Given the description of an element on the screen output the (x, y) to click on. 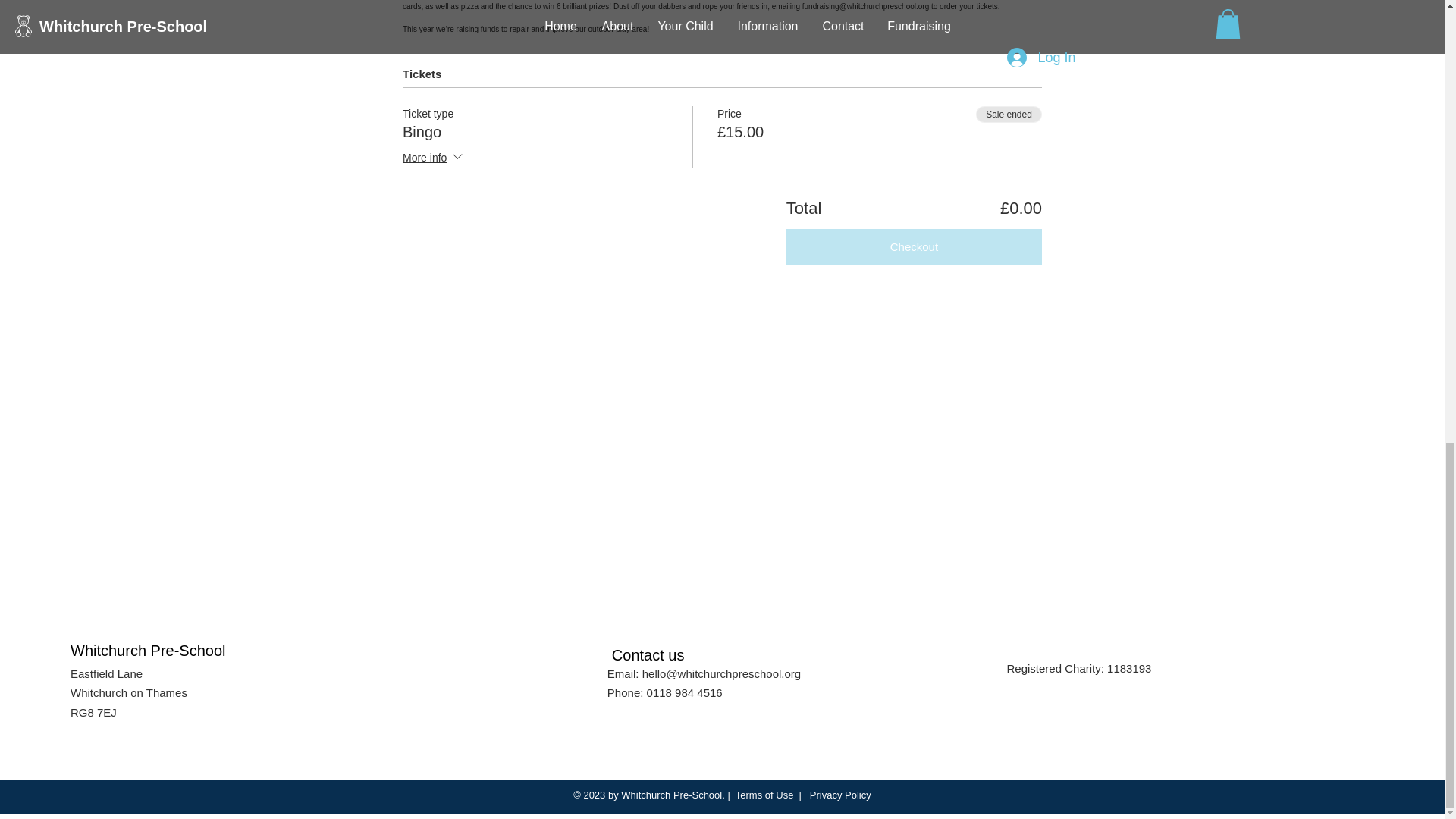
More info (434, 158)
Checkout (914, 247)
